Given the description of an element on the screen output the (x, y) to click on. 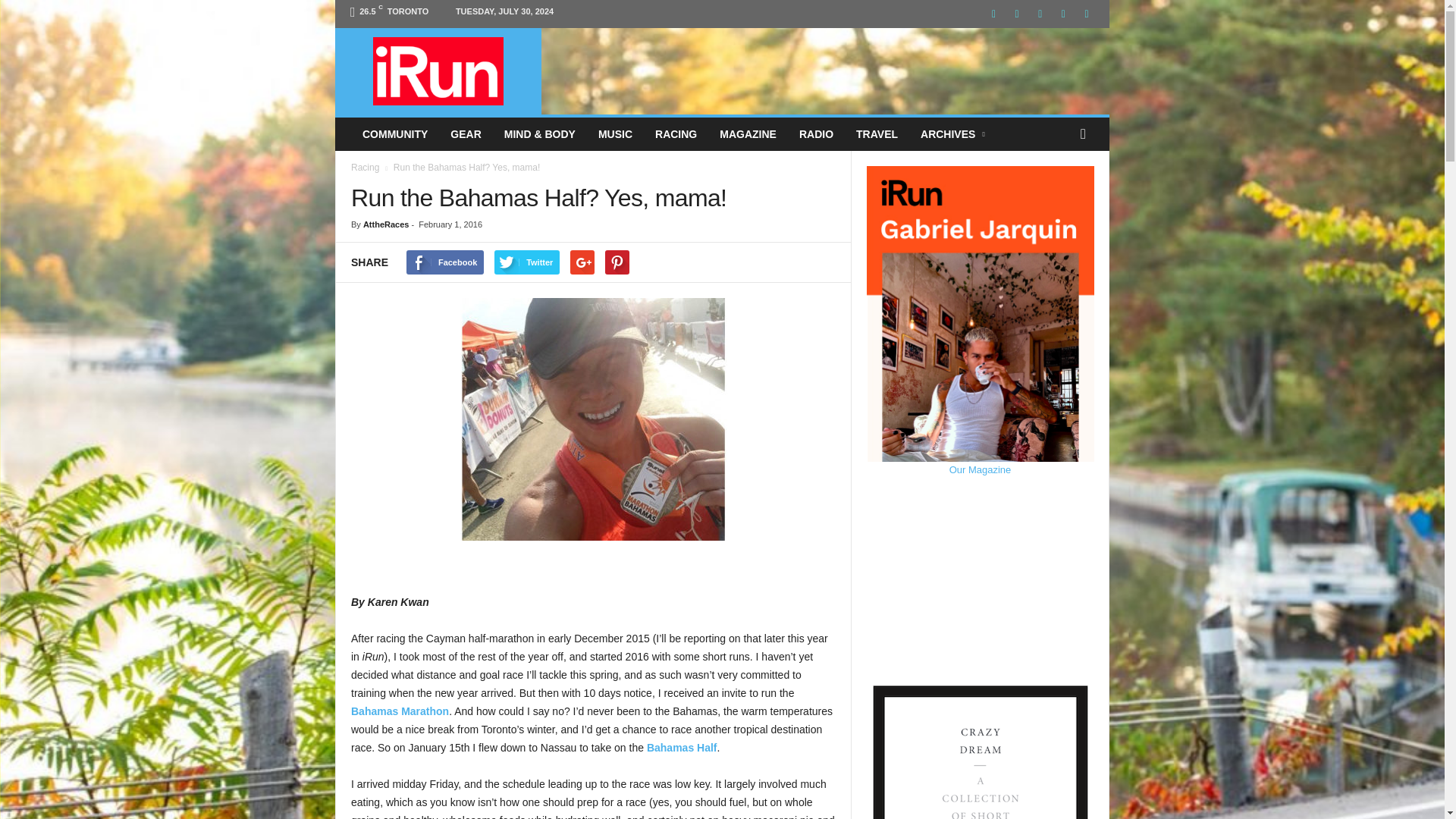
COMMUNITY (394, 133)
TRAVEL (876, 133)
GEAR (465, 133)
3rd party ad content (826, 61)
iRun.ca (437, 70)
ARCHIVES (953, 133)
iRun.CA Magazine (437, 70)
MAGAZINE (747, 133)
RACING (675, 133)
MUSIC (614, 133)
RADIO (815, 133)
